Given the description of an element on the screen output the (x, y) to click on. 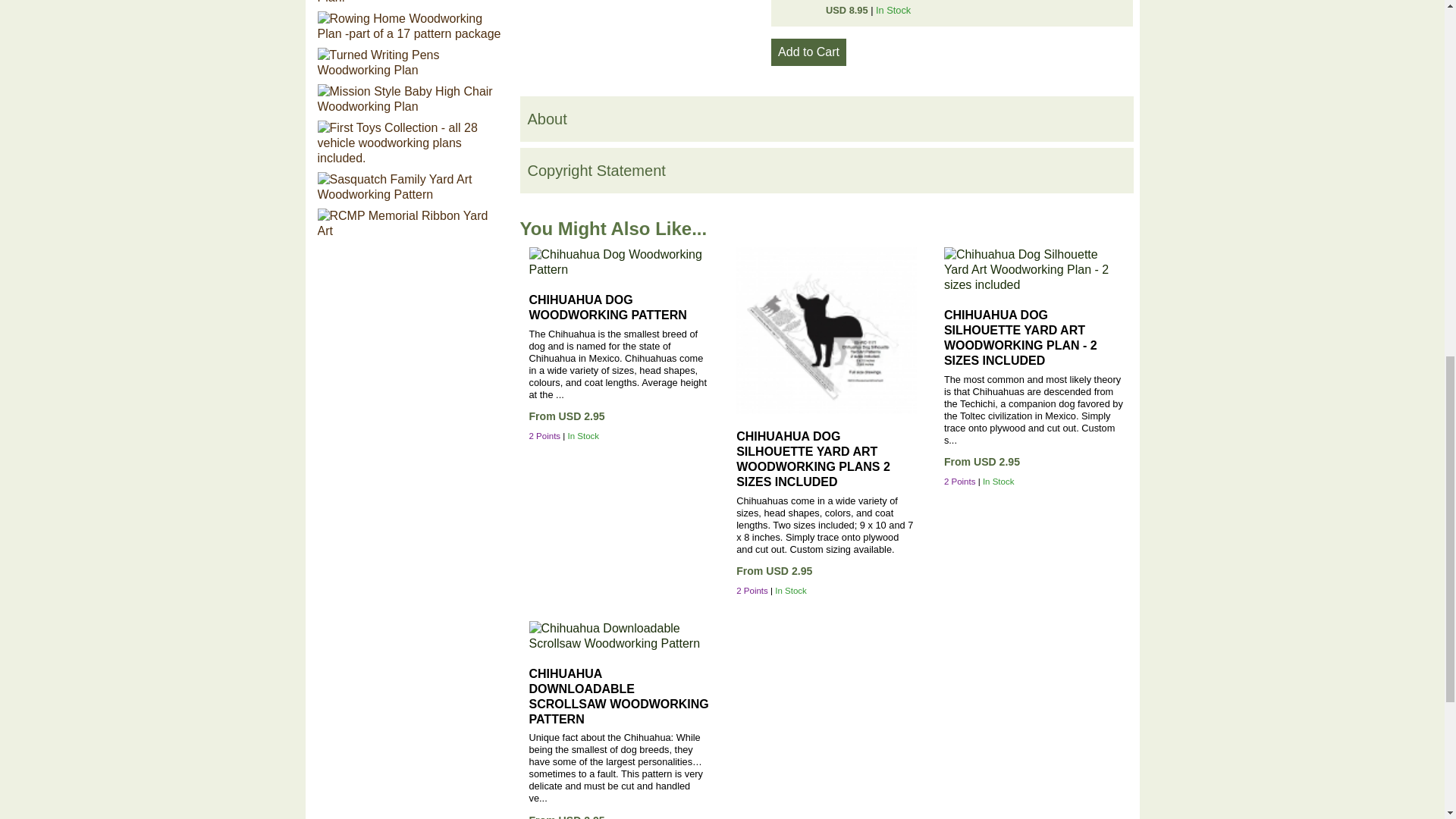
Add to Cart (808, 52)
Chihuahua Dog Woodworking Pattern (619, 262)
Chihuahua Downloadable Scrollsaw Woodworking Pattern (619, 635)
Chihuahua Downloadable Scrollsaw Woodworking Pattern (619, 696)
Add to Cart (808, 52)
CHIHUAHUA DOG WOODWORKING PATTERN (608, 307)
CHIHUAHUA DOWNLOADABLE SCROLLSAW WOODWORKING PATTERN (619, 696)
